Given the description of an element on the screen output the (x, y) to click on. 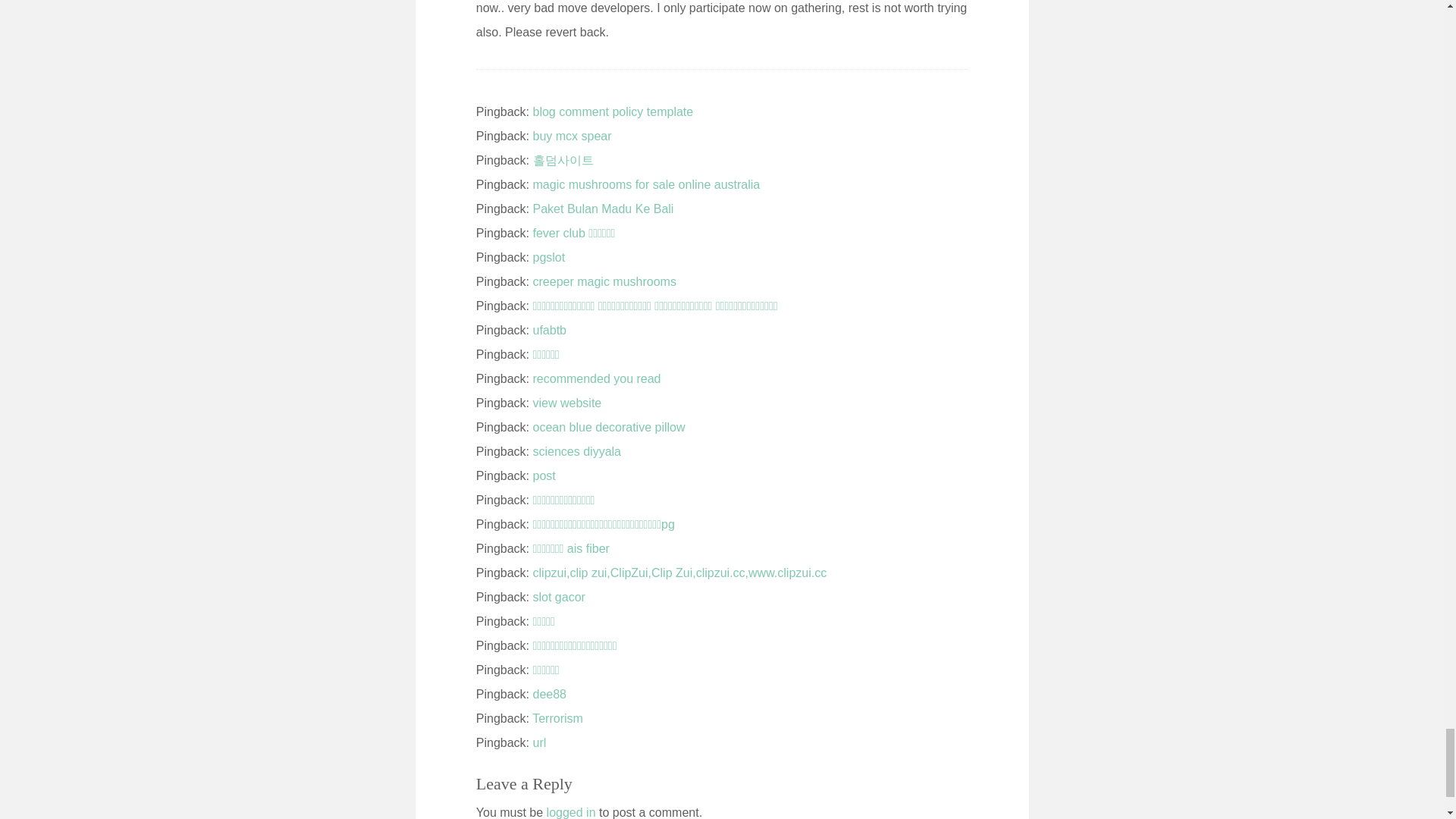
magic mushrooms for sale online australia (646, 184)
buy mcx spear (571, 135)
Paket Bulan Madu Ke Bali (603, 208)
blog comment policy template (613, 111)
